Given the description of an element on the screen output the (x, y) to click on. 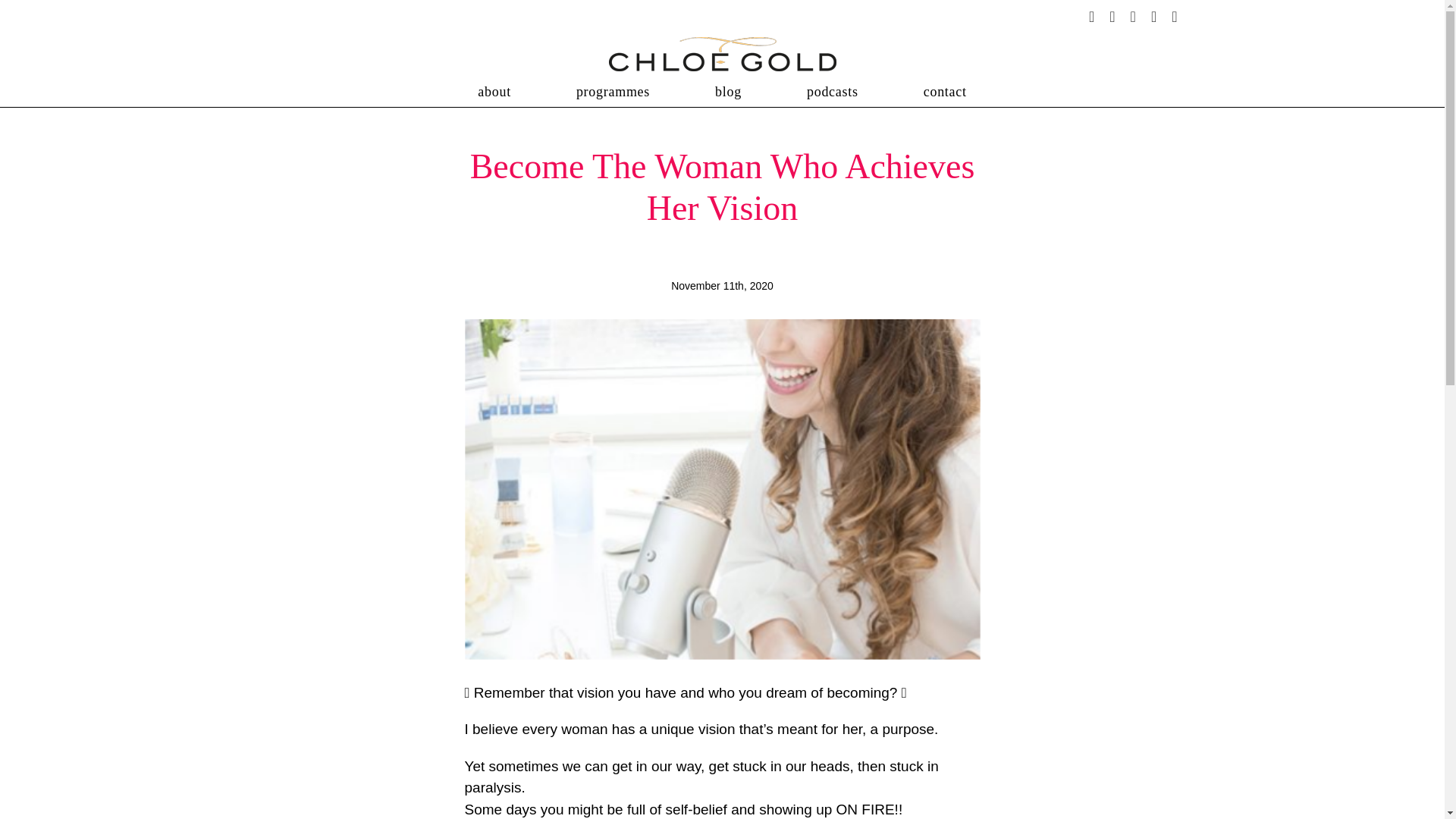
about (494, 91)
podcasts (832, 91)
programmes (612, 91)
contact (944, 91)
